Given the description of an element on the screen output the (x, y) to click on. 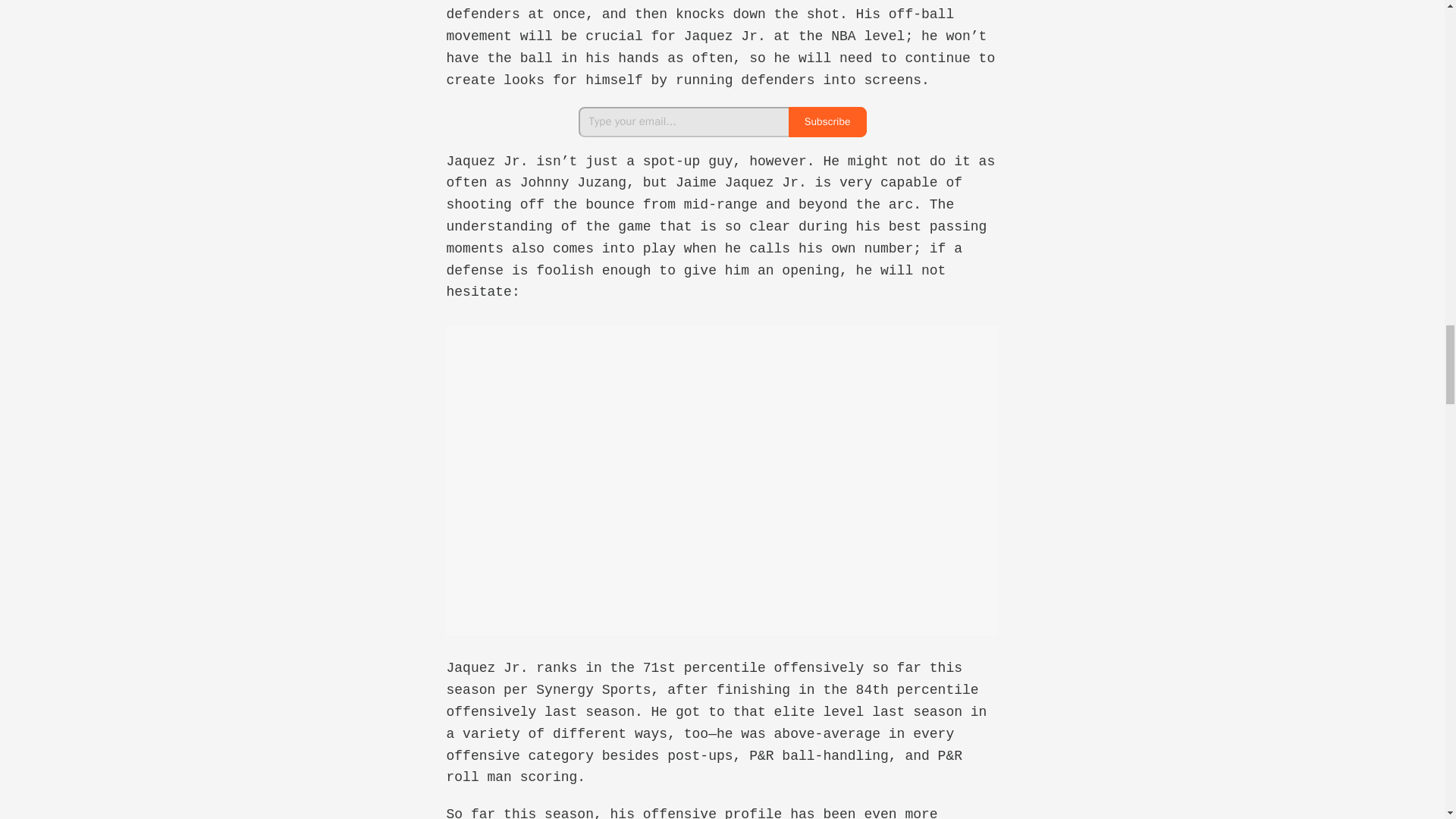
Subscribe (827, 122)
